Given the description of an element on the screen output the (x, y) to click on. 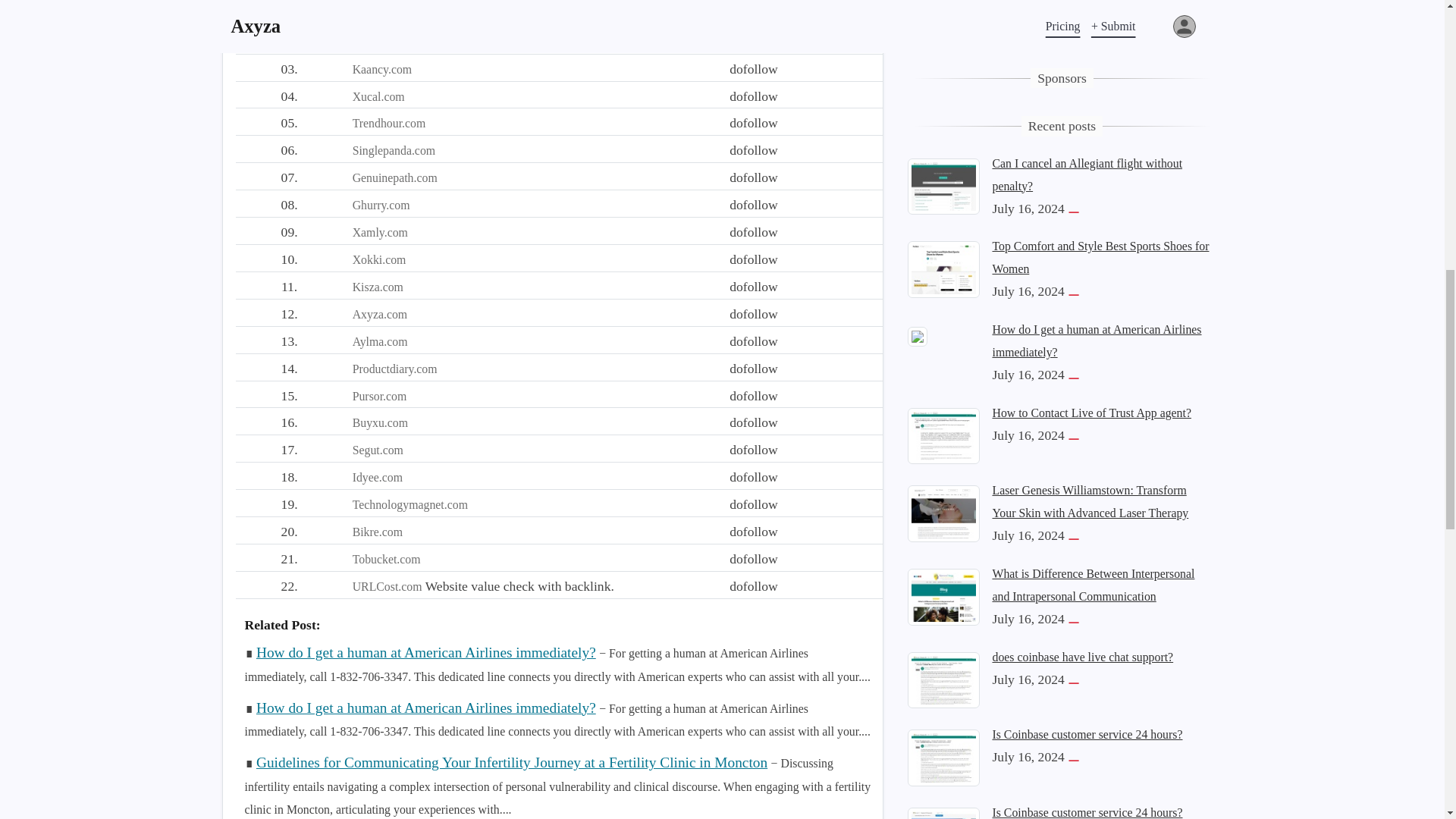
Singlepanda.com (393, 150)
Ghurry.com (381, 205)
Trendhour.com (389, 123)
Kaancy.com (382, 69)
Xokki.com (379, 259)
Xucal.com (378, 96)
Segut.com (377, 449)
Idyee.com (377, 477)
Pursor.com (379, 395)
Xamly.com (379, 232)
Aylma.com (379, 341)
Lieel.com (376, 42)
Buyxu.com (379, 422)
How do I get a human at American Airlines immediately? (425, 706)
